Given the description of an element on the screen output the (x, y) to click on. 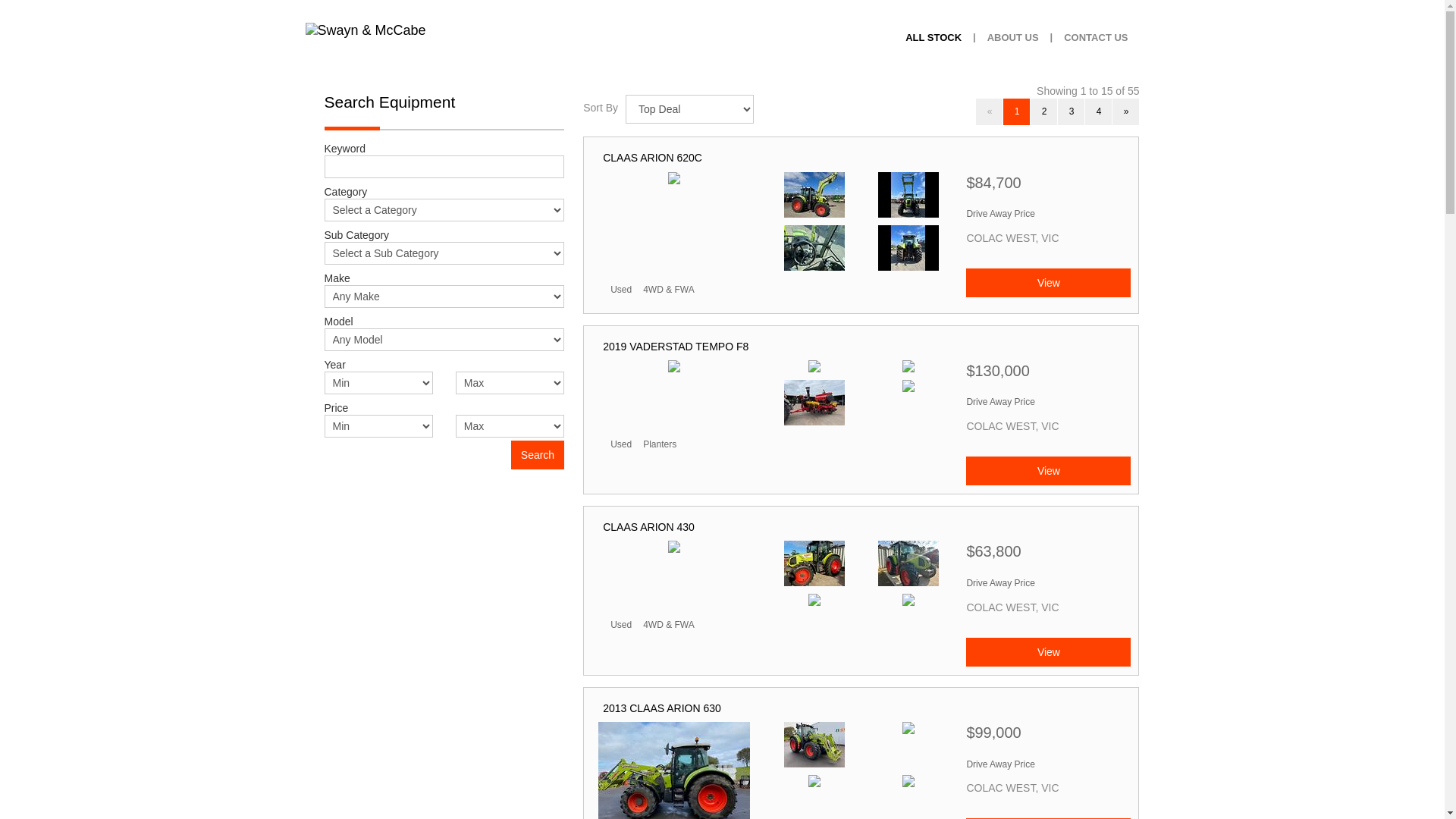
$63,800 Element type: text (1048, 555)
4 Element type: text (1098, 111)
Search Element type: text (537, 454)
$84,700 Element type: text (1048, 186)
Swayn & McCabe Element type: hover (364, 43)
2 Element type: text (1043, 111)
Drive Away Price Element type: text (1000, 401)
$130,000 Element type: text (1048, 374)
1 Element type: text (1016, 111)
ABOUT US Element type: text (1012, 37)
Drive Away Price Element type: text (1000, 582)
3 Element type: text (1070, 111)
View Element type: text (1048, 282)
View Element type: text (1048, 470)
Drive Away Price Element type: text (1000, 213)
Drive Away Price Element type: text (1000, 764)
$99,000 Element type: text (1048, 736)
CONTACT US Element type: text (1095, 37)
View Element type: text (1048, 651)
ALL STOCK Element type: text (933, 37)
